Given the description of an element on the screen output the (x, y) to click on. 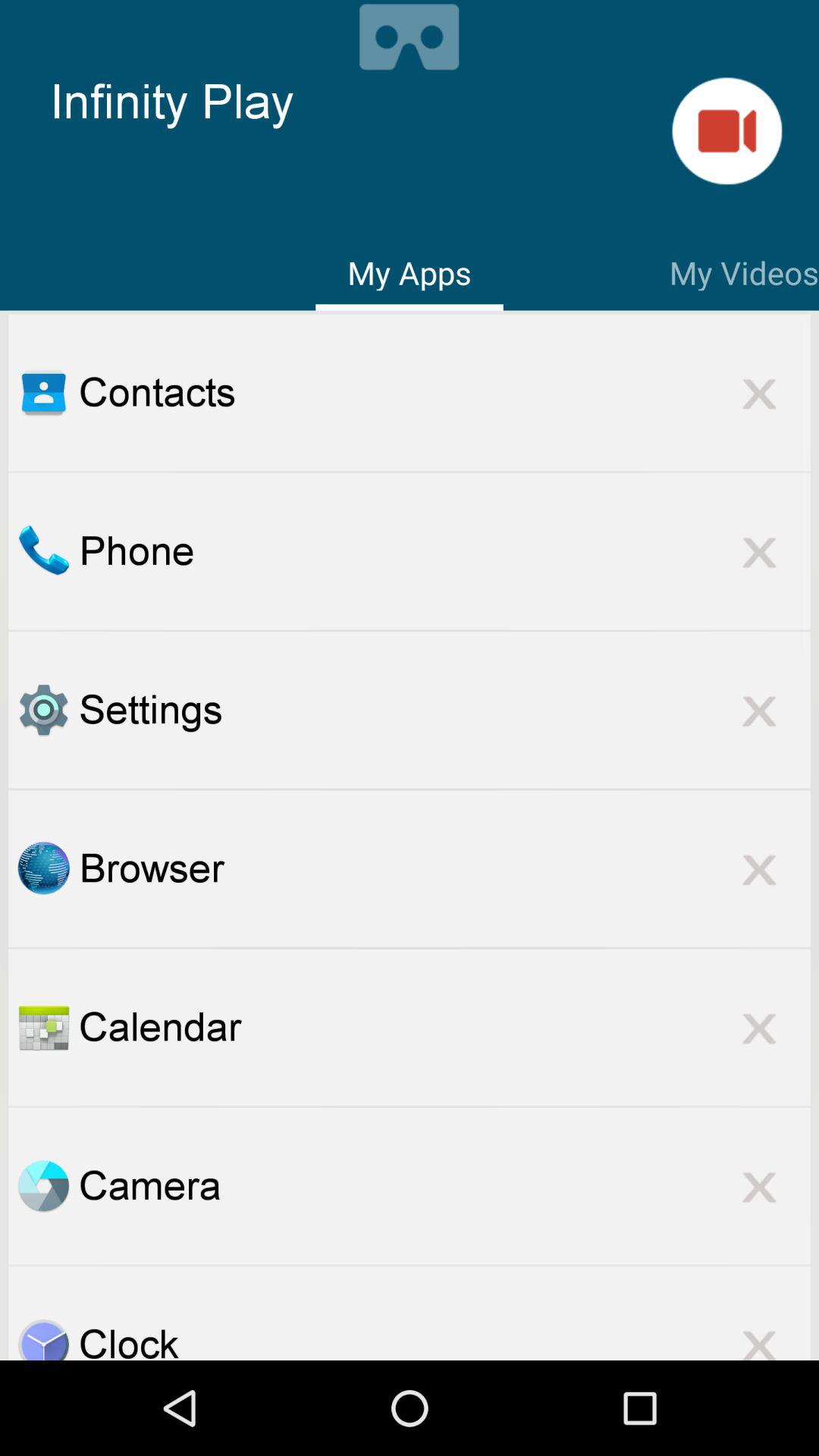
go to select close (759, 1334)
